Given the description of an element on the screen output the (x, y) to click on. 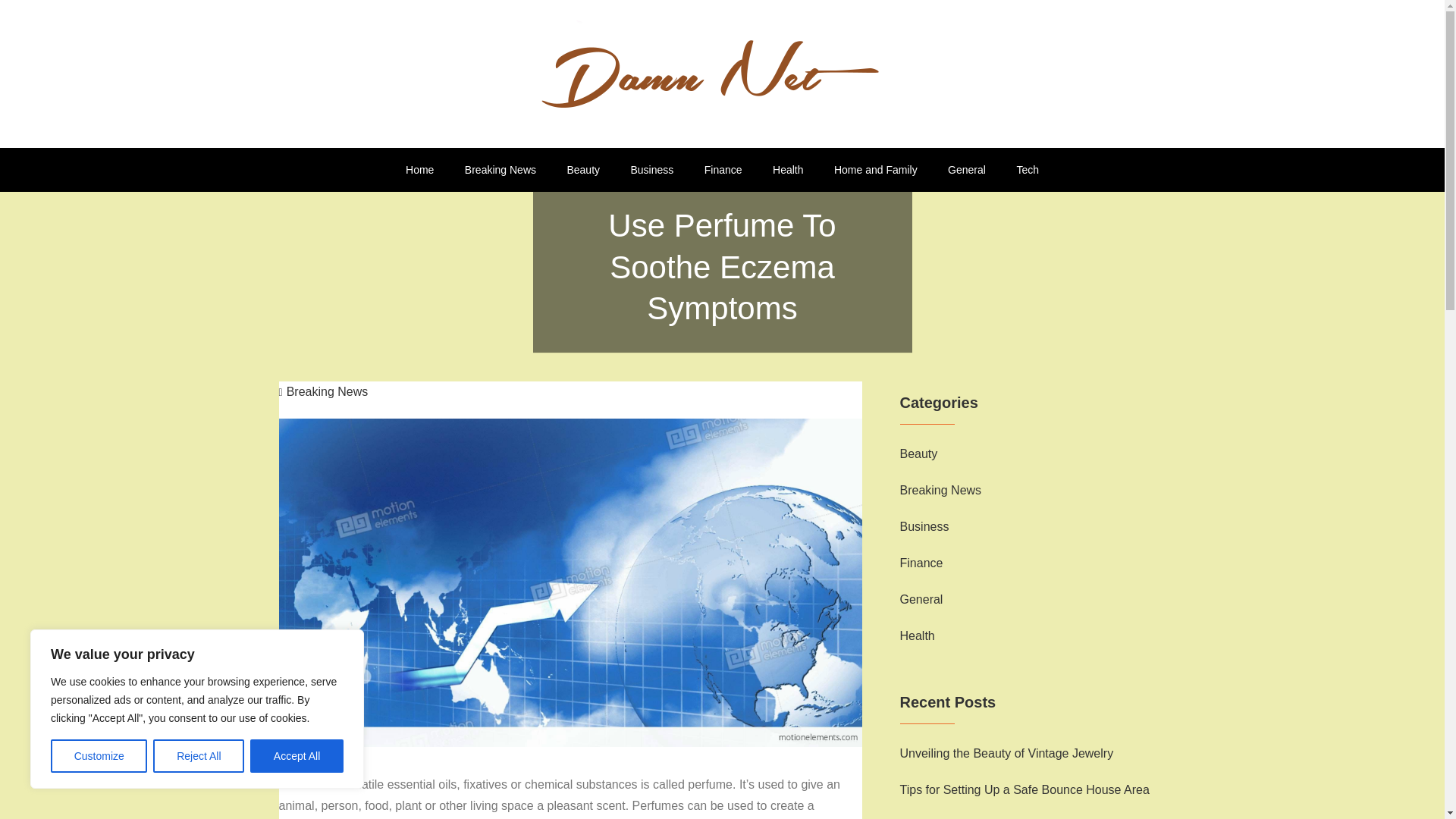
Home and Family (876, 169)
Breaking News (940, 490)
Home (418, 169)
Reject All (198, 756)
Health (787, 169)
Tech (1027, 169)
General (920, 599)
Customize (98, 756)
Finance (920, 563)
Damn Net (350, 152)
